Given the description of an element on the screen output the (x, y) to click on. 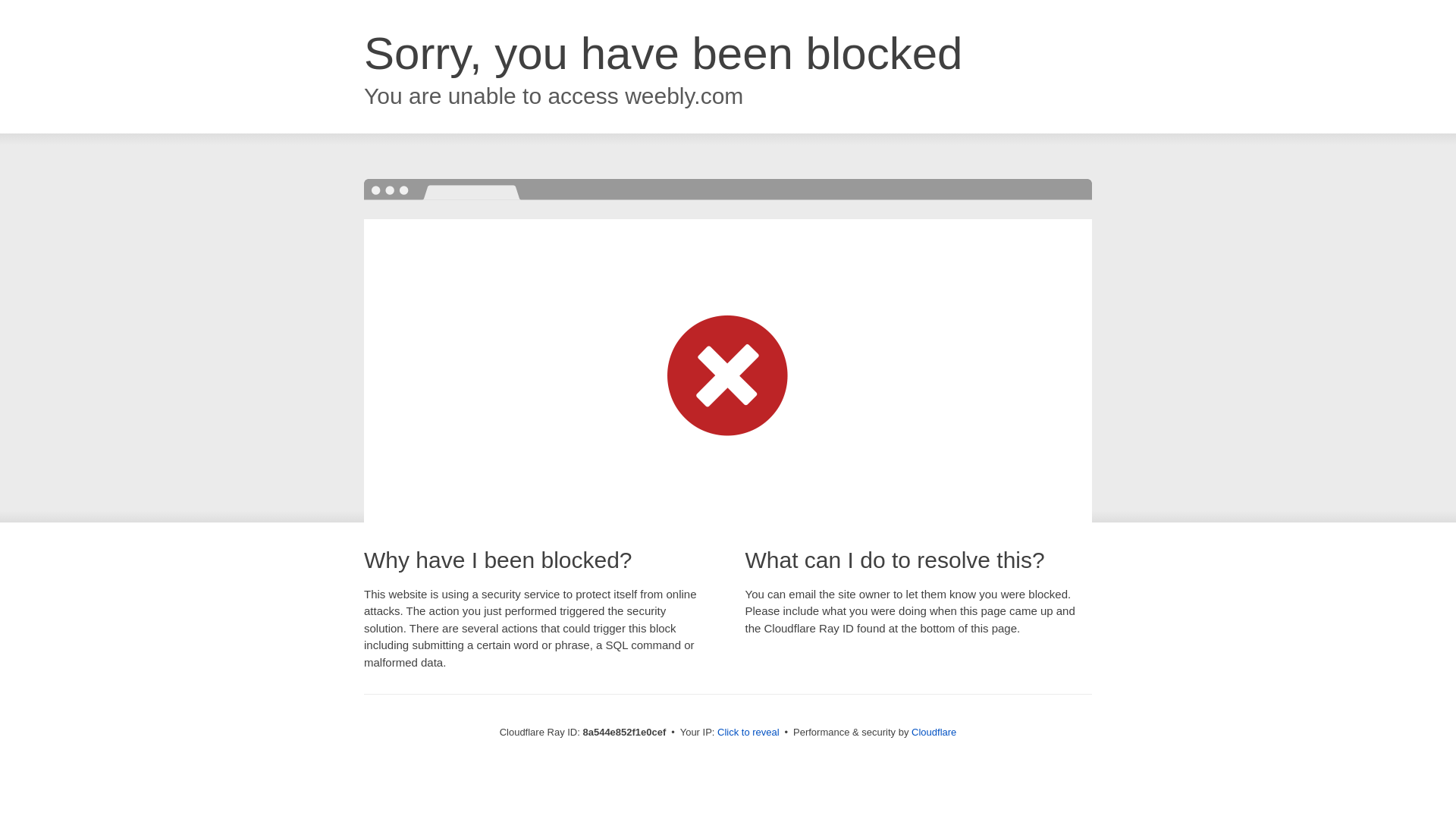
Click to reveal (747, 732)
Cloudflare (933, 731)
